Given the description of an element on the screen output the (x, y) to click on. 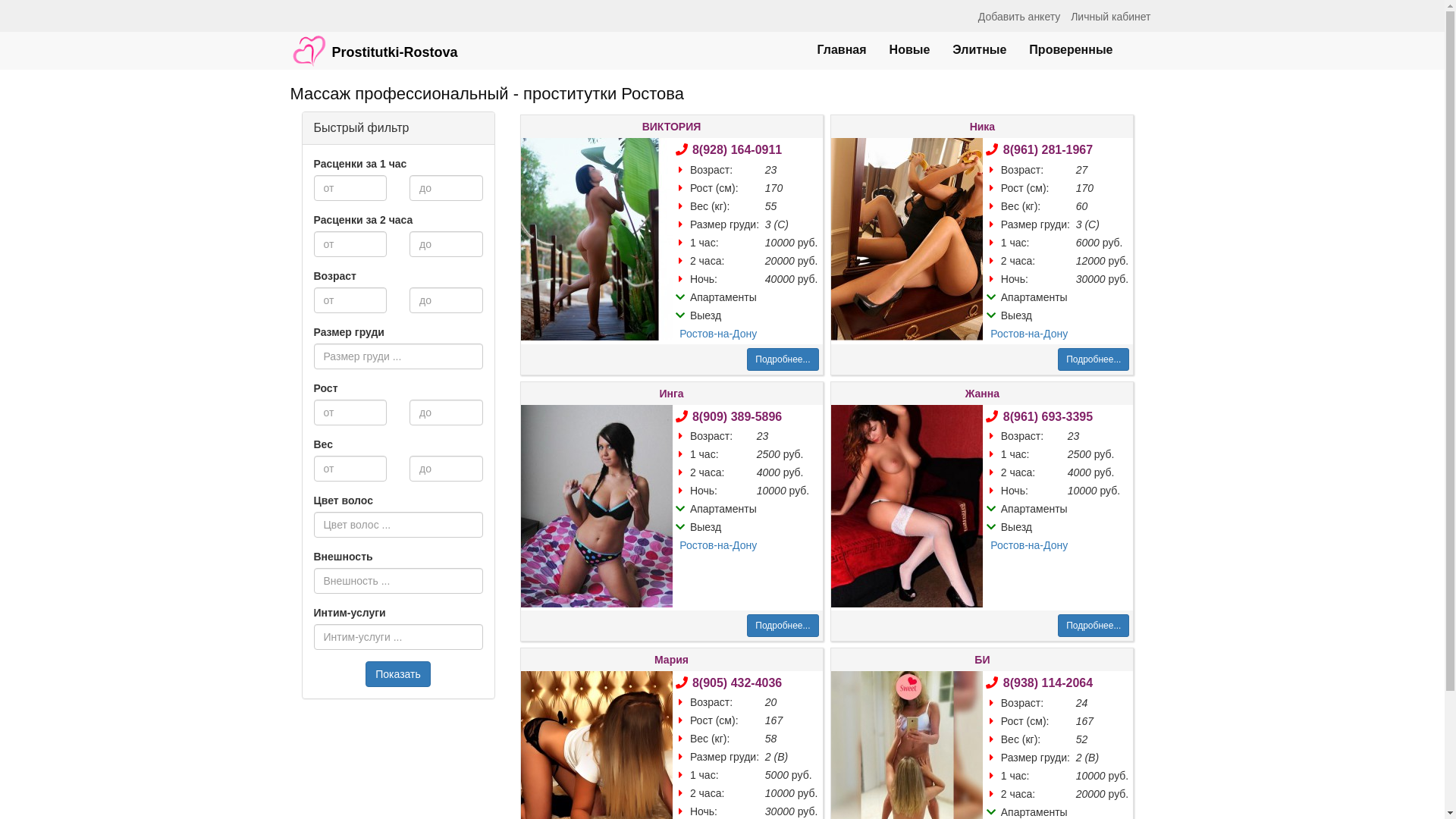
Prostitutki-Rostova Element type: text (374, 43)
